Given the description of an element on the screen output the (x, y) to click on. 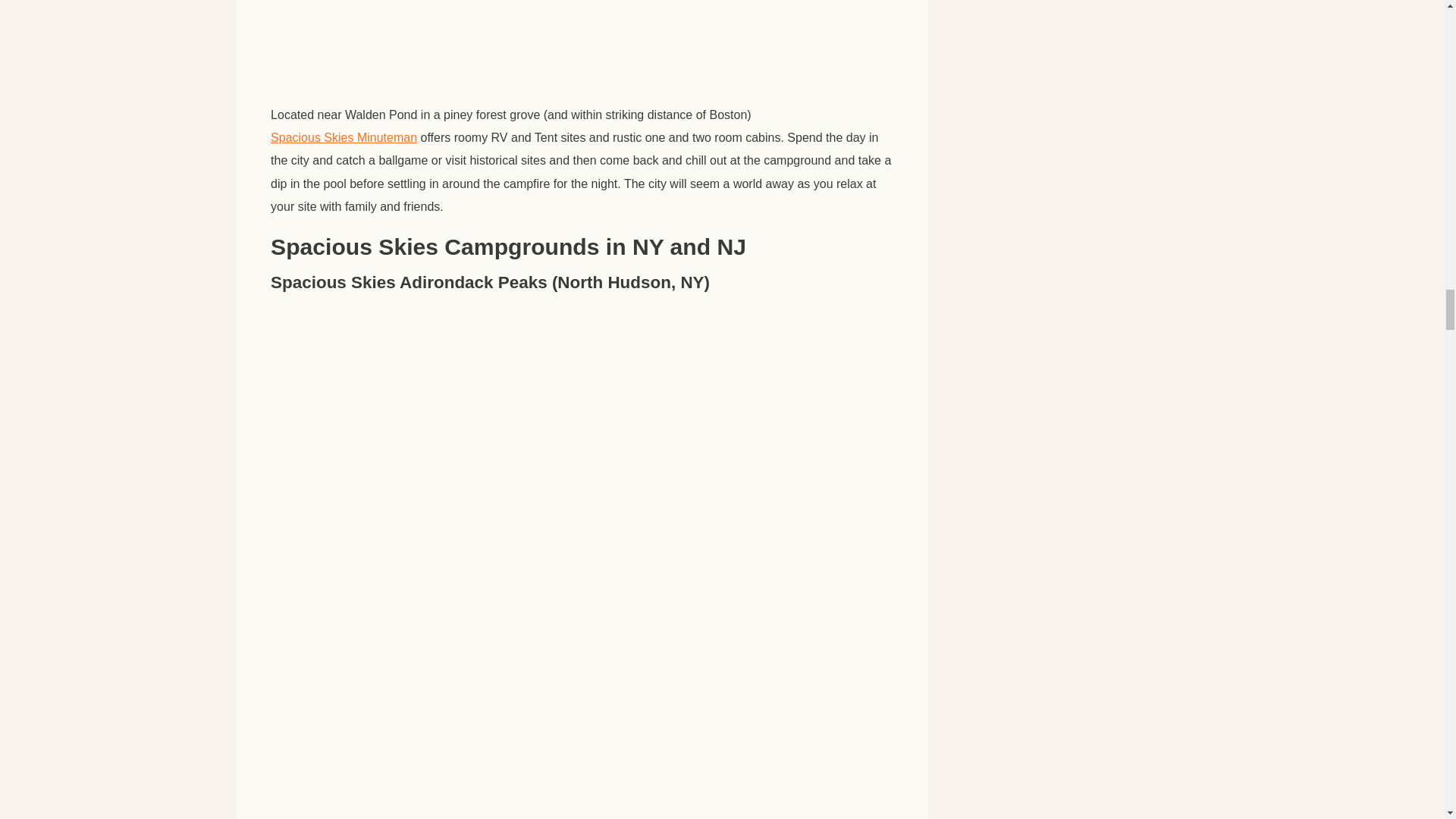
Spacious Skies Minuteman (343, 137)
